Given the description of an element on the screen output the (x, y) to click on. 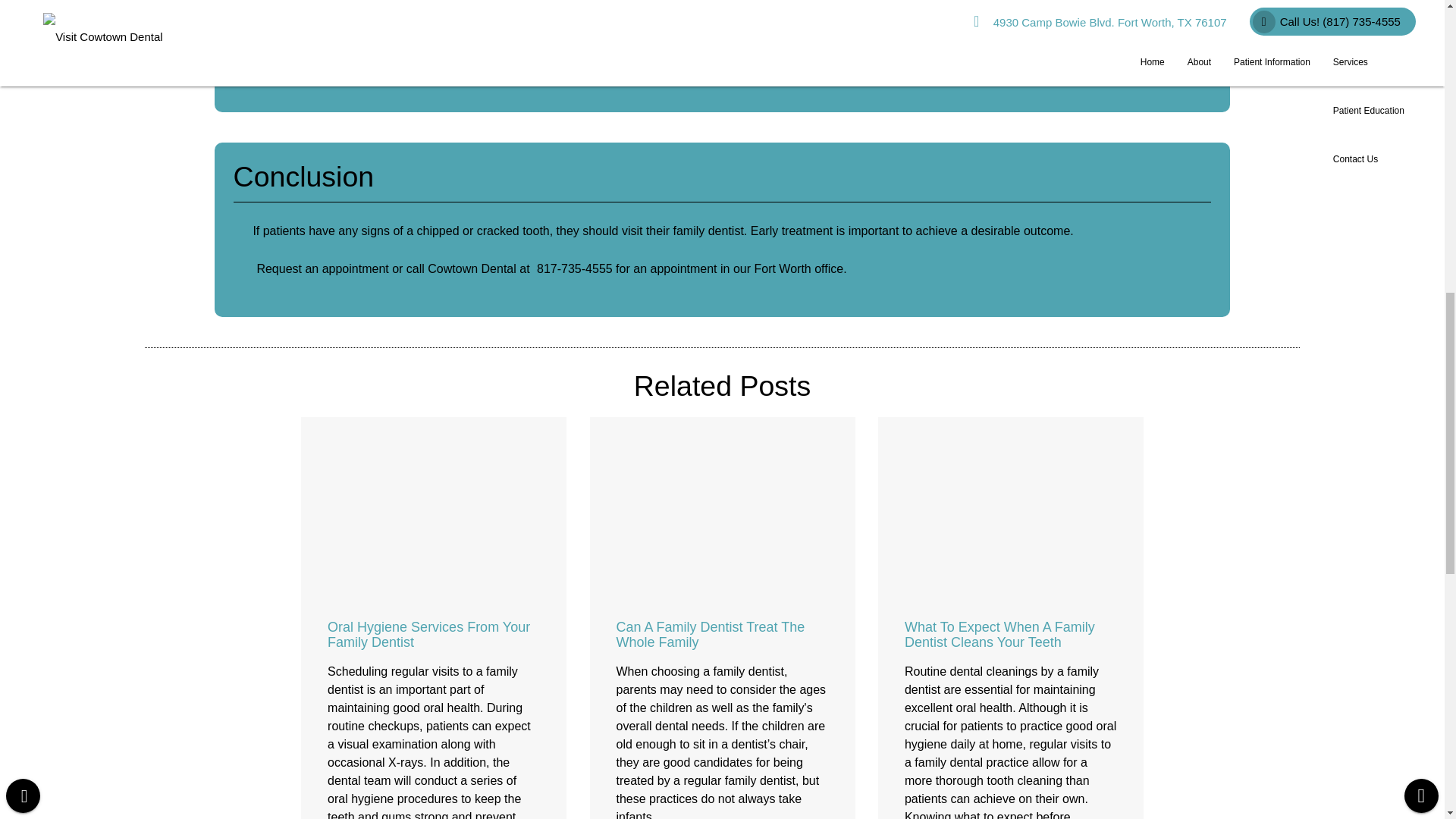
What To Expect When A Family Dentist Cleans Your Teeth (999, 634)
Can A Family Dentist Treat The Whole Family (710, 634)
Chipped or Cracked Teeth Repairs in Fort Worth, TX (723, 63)
817-735-4555 (574, 268)
Request an appointment (322, 268)
Oral Hygiene Services From Your Family Dentist (428, 634)
